Given the description of an element on the screen output the (x, y) to click on. 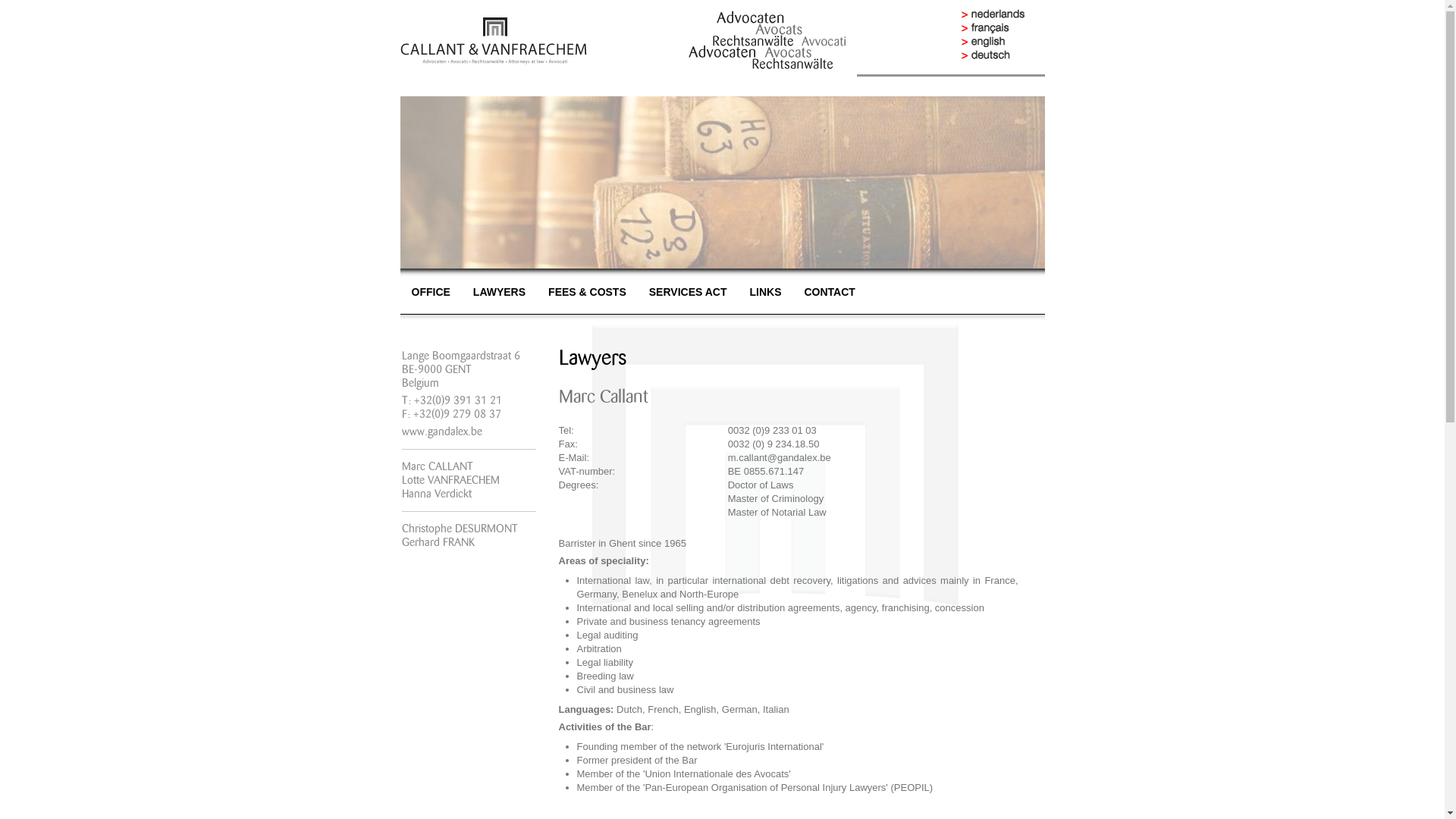
OFFICE Element type: text (430, 291)
FEES & COSTS Element type: text (587, 291)
English Element type: text (1002, 41)
SERVICES ACT Element type: text (688, 291)
Francais Element type: text (1002, 27)
Law firm Gandalex & Vanfraechem Element type: text (493, 41)
Deutch Element type: text (1002, 55)
CONTACT Element type: text (828, 291)
LAWYERS Element type: text (499, 291)
LINKS Element type: text (765, 291)
Nederlands Element type: text (1002, 14)
